Given the description of an element on the screen output the (x, y) to click on. 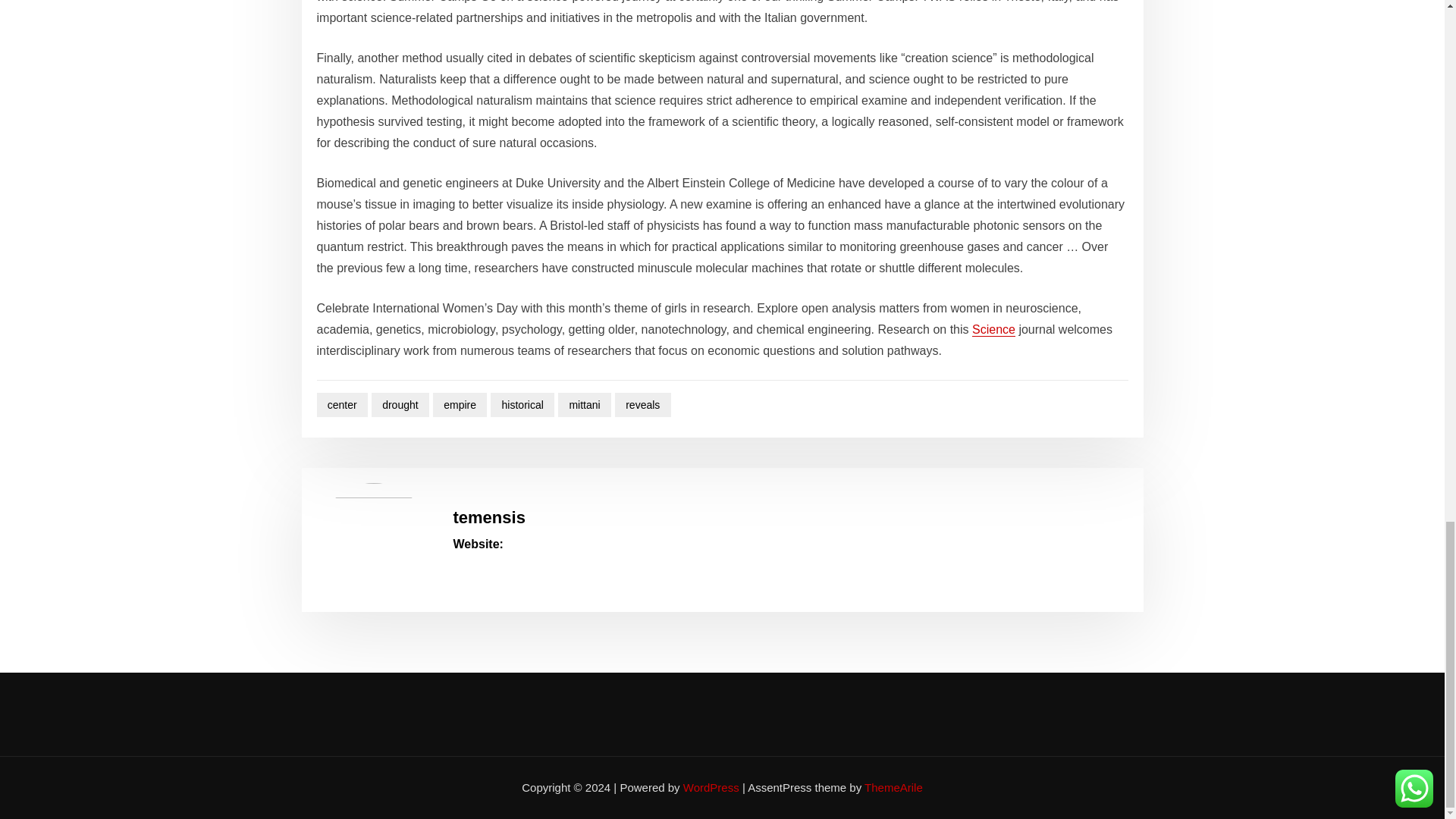
center (342, 405)
reveals (642, 405)
Science (993, 328)
historical (522, 405)
WordPress (710, 787)
mittani (584, 405)
drought (400, 405)
ThemeArile (893, 787)
empire (459, 405)
